Given the description of an element on the screen output the (x, y) to click on. 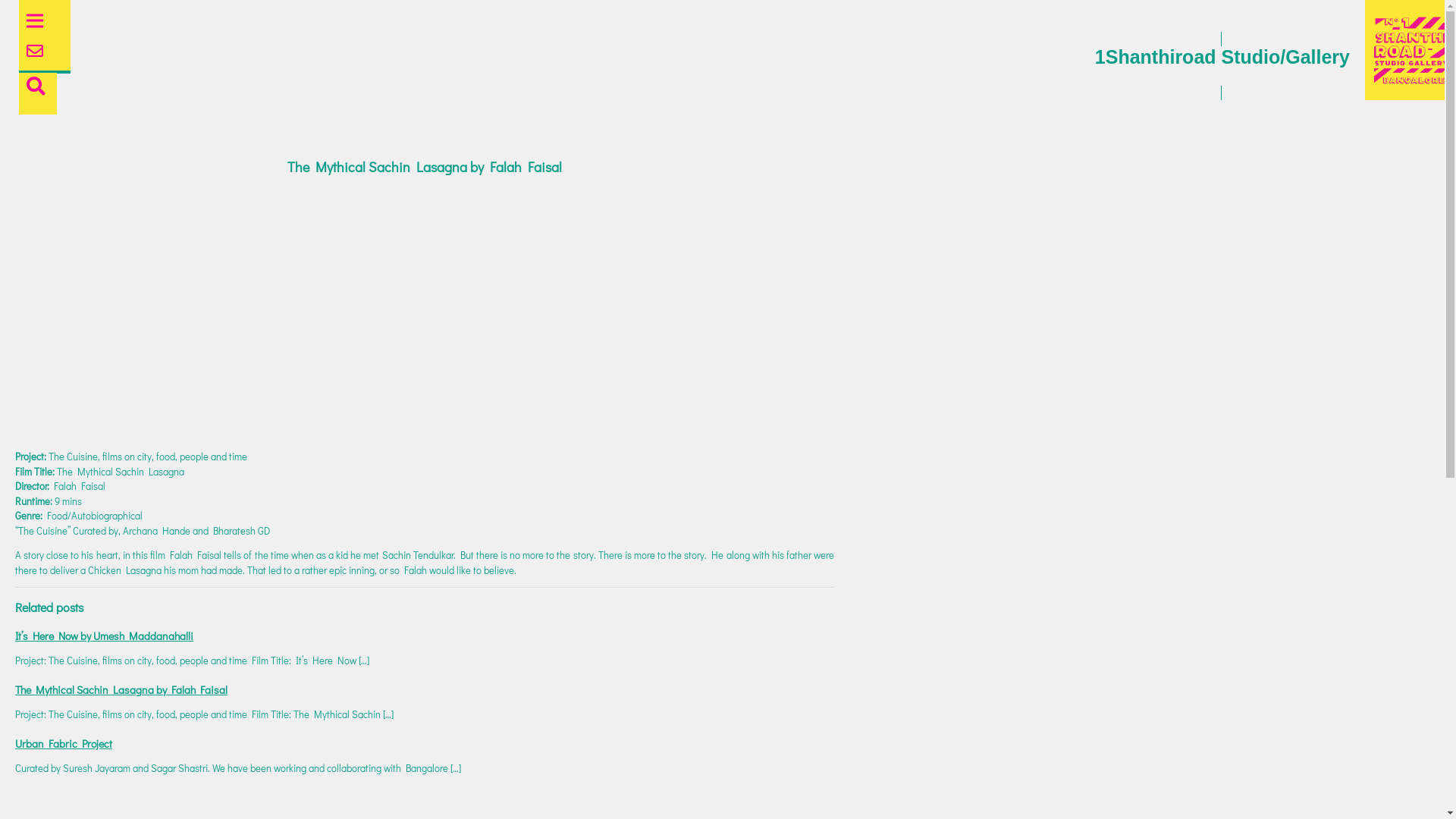
Search Element type: text (20, 7)
The Mythical Sachin Lasagna by Falah Faisal Element type: text (121, 689)
1Shanthiroad Studio/Gallery Element type: text (1220, 65)
Urban Fabric Project Element type: text (63, 743)
